Given the description of an element on the screen output the (x, y) to click on. 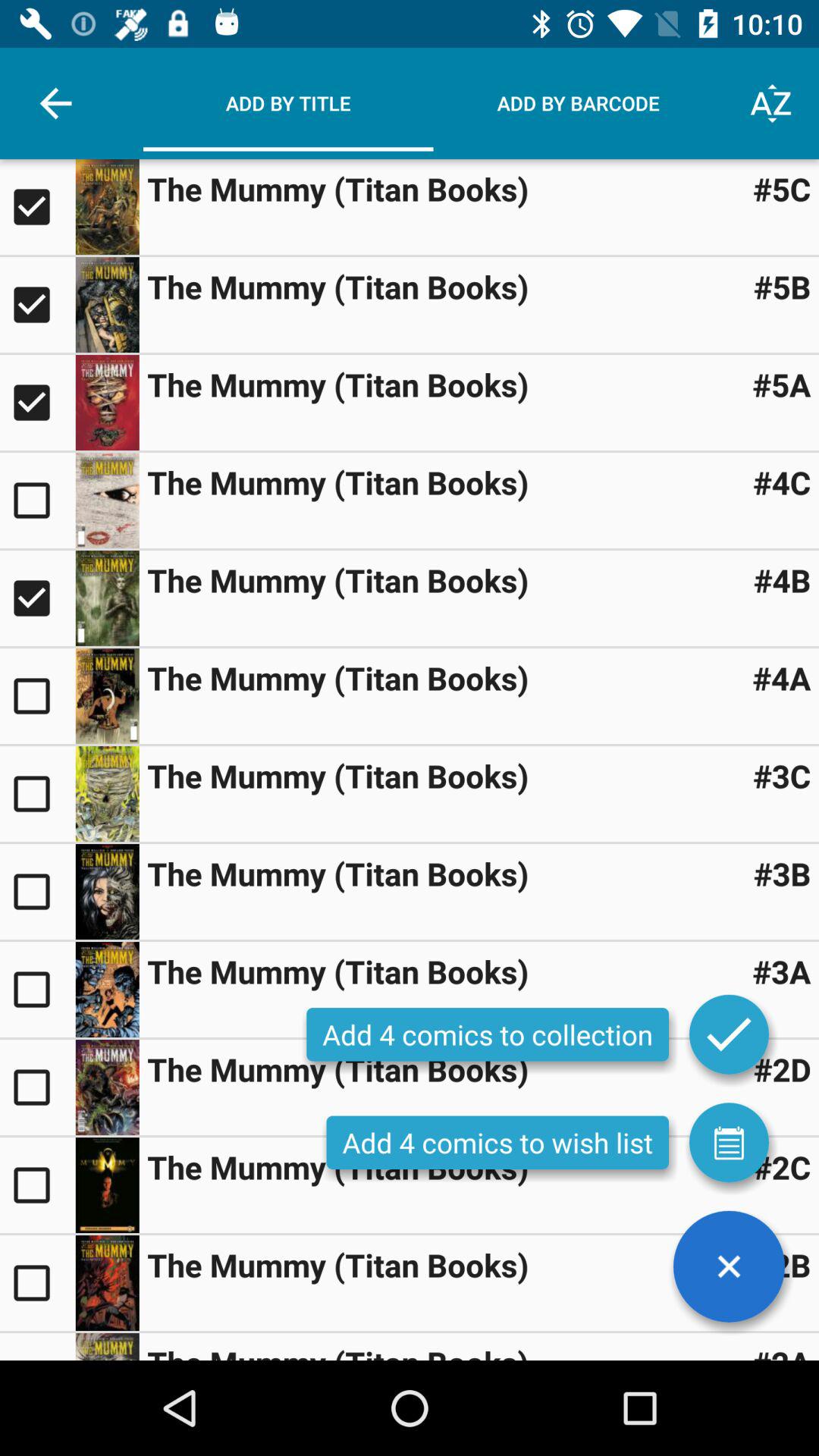
add to add to collection selection (107, 793)
